Given the description of an element on the screen output the (x, y) to click on. 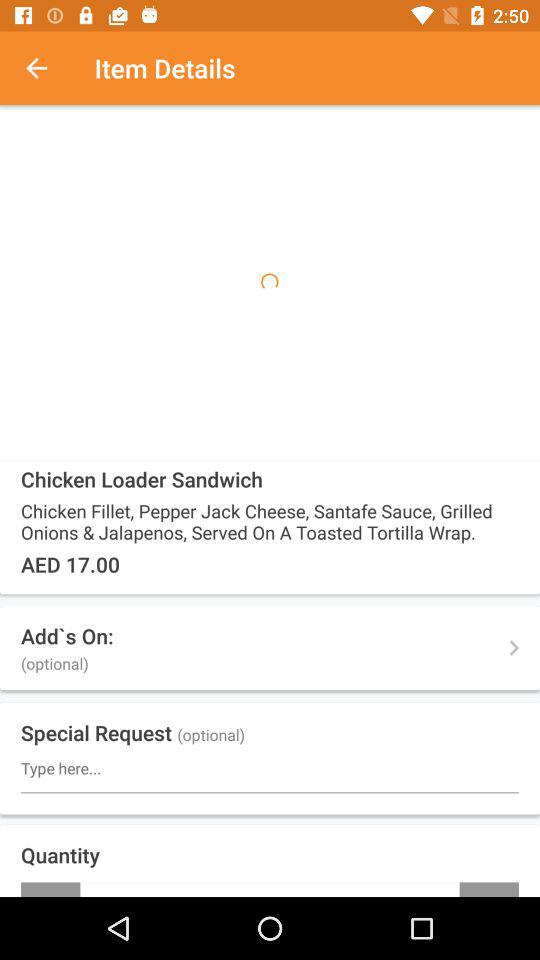
go to the type here field of special request (269, 768)
